Given the description of an element on the screen output the (x, y) to click on. 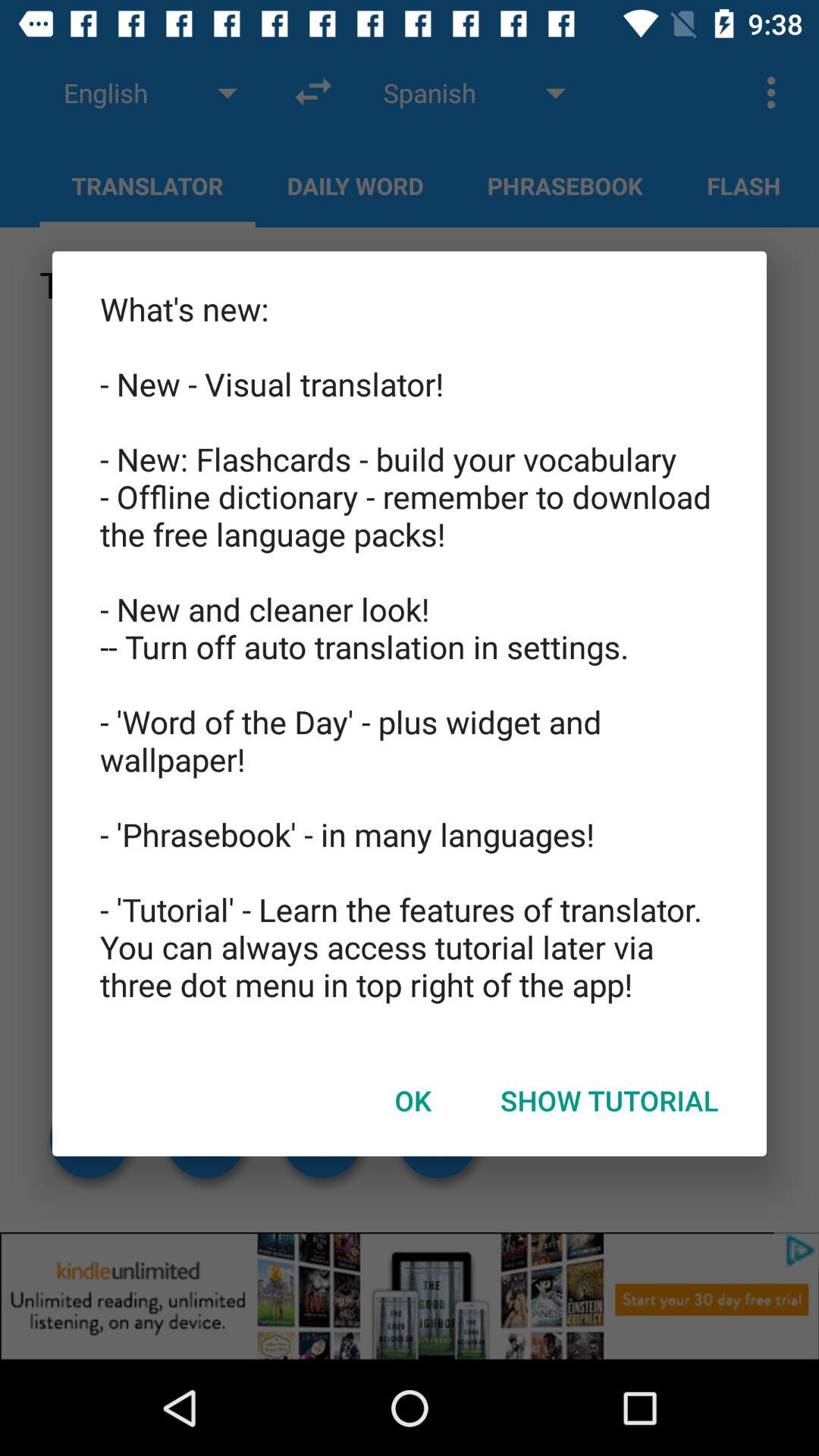
flip to the ok (412, 1100)
